Given the description of an element on the screen output the (x, y) to click on. 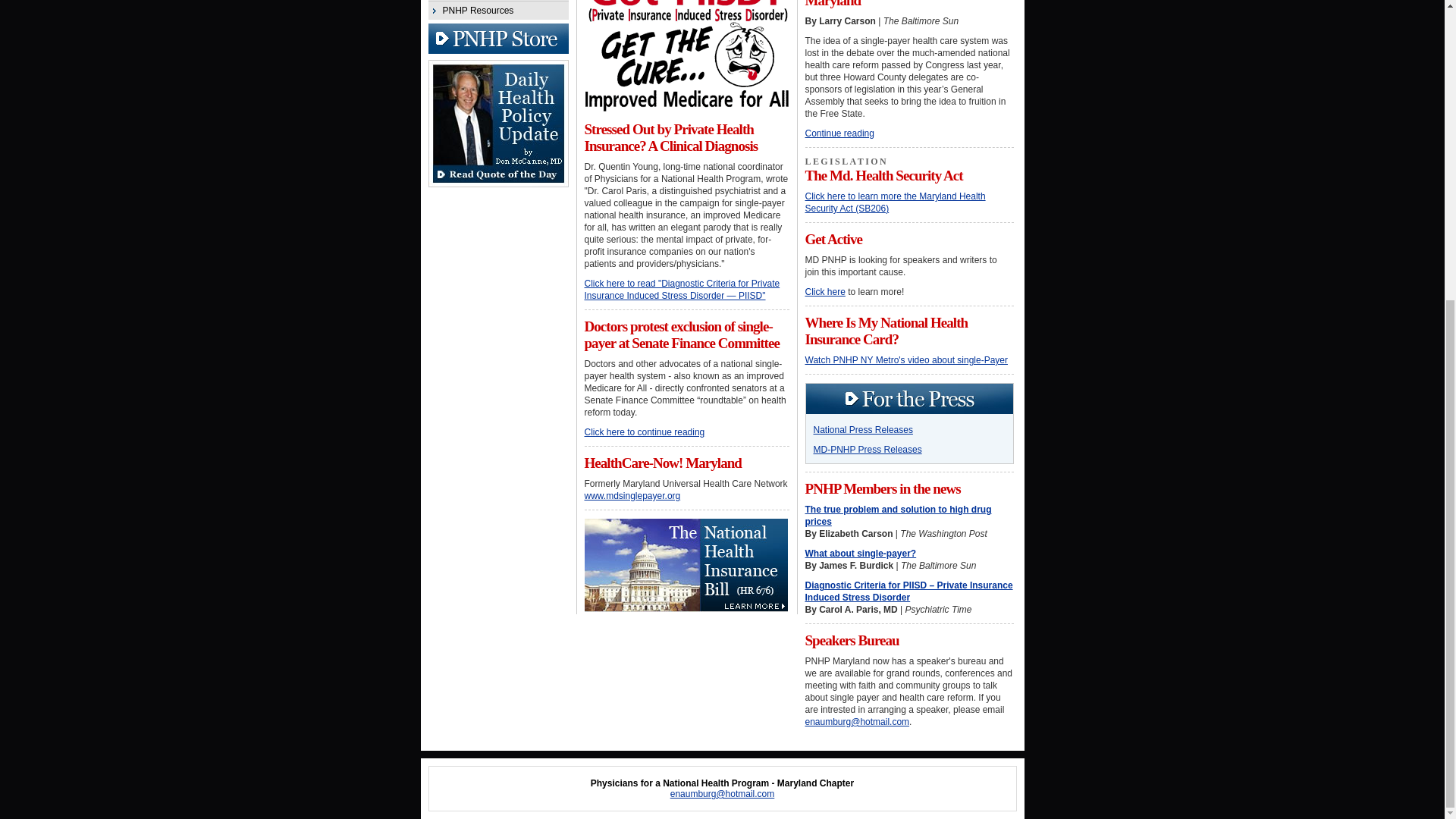
www.mdsinglepayer.org (631, 495)
MD-PNHP Press Releases (866, 449)
Continue reading (840, 132)
PNHP Resources (497, 9)
Click here to continue reading (643, 431)
Read Dr. Don McCanne's Quote of the Day (497, 184)
Single-payer health care pushed for Maryland (901, 4)
The true problem and solution to high drug prices (898, 515)
What about single-payer? (861, 552)
